Given the description of an element on the screen output the (x, y) to click on. 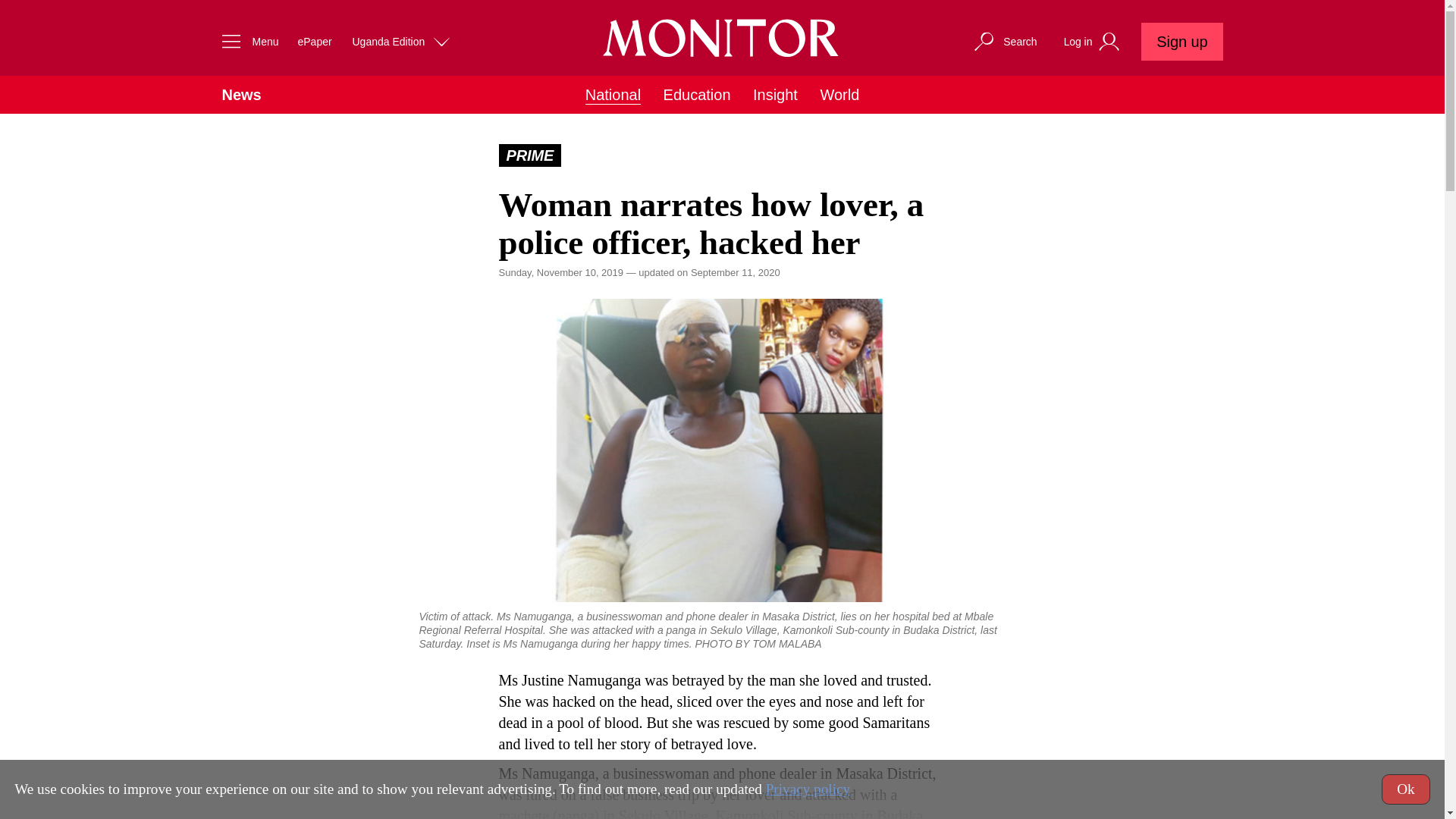
Sign up (1182, 41)
Ok (1405, 788)
Privacy policy (807, 788)
ePaper (314, 41)
Education (696, 94)
Privacy policy (807, 788)
Insight (774, 94)
Uganda Edition (401, 41)
World (839, 94)
Search (1003, 41)
Menu (246, 41)
Log in (1094, 41)
National (612, 95)
News (240, 94)
